Given the description of an element on the screen output the (x, y) to click on. 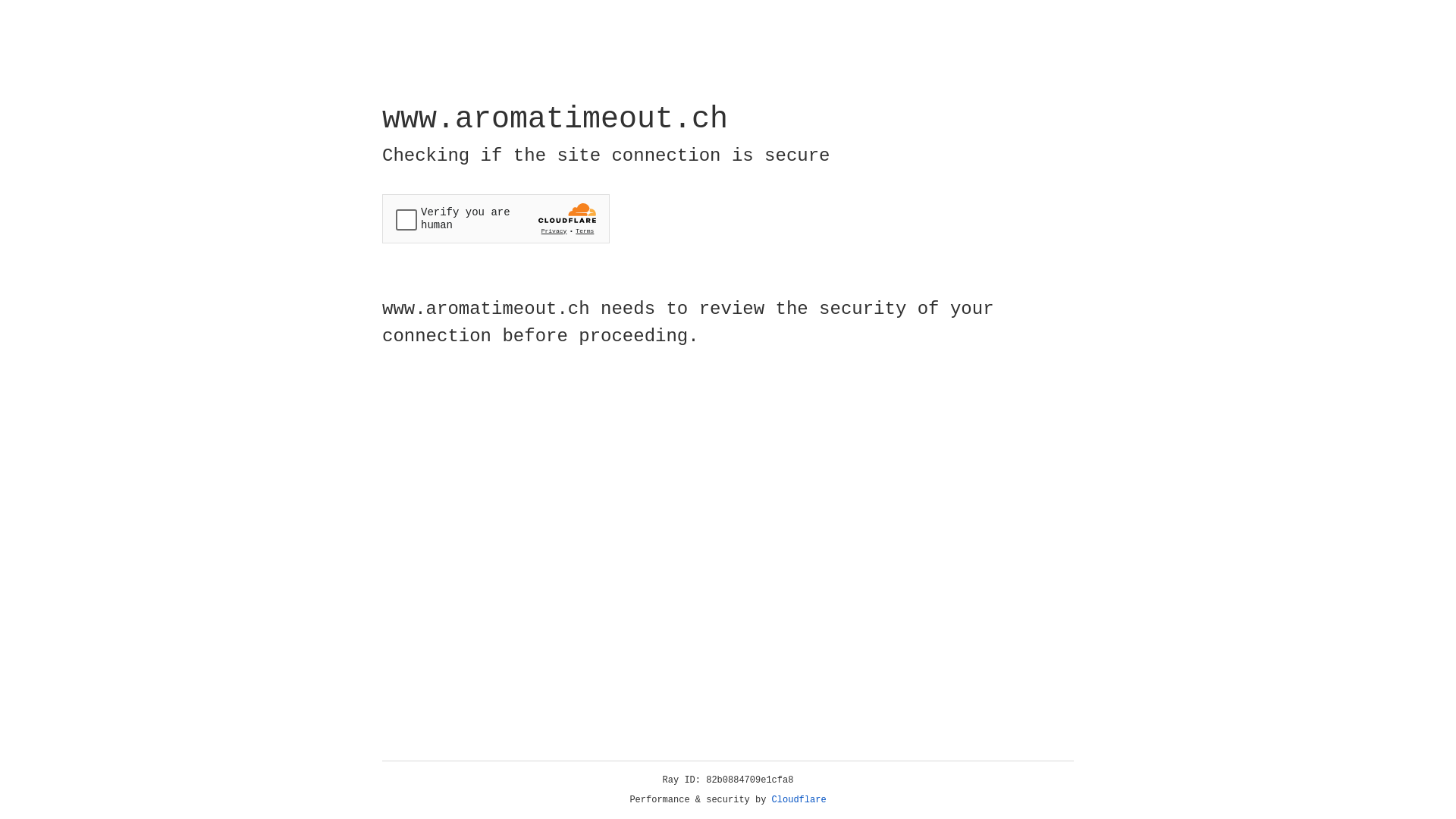
Widget containing a Cloudflare security challenge Element type: hover (495, 218)
Cloudflare Element type: text (798, 799)
